Given the description of an element on the screen output the (x, y) to click on. 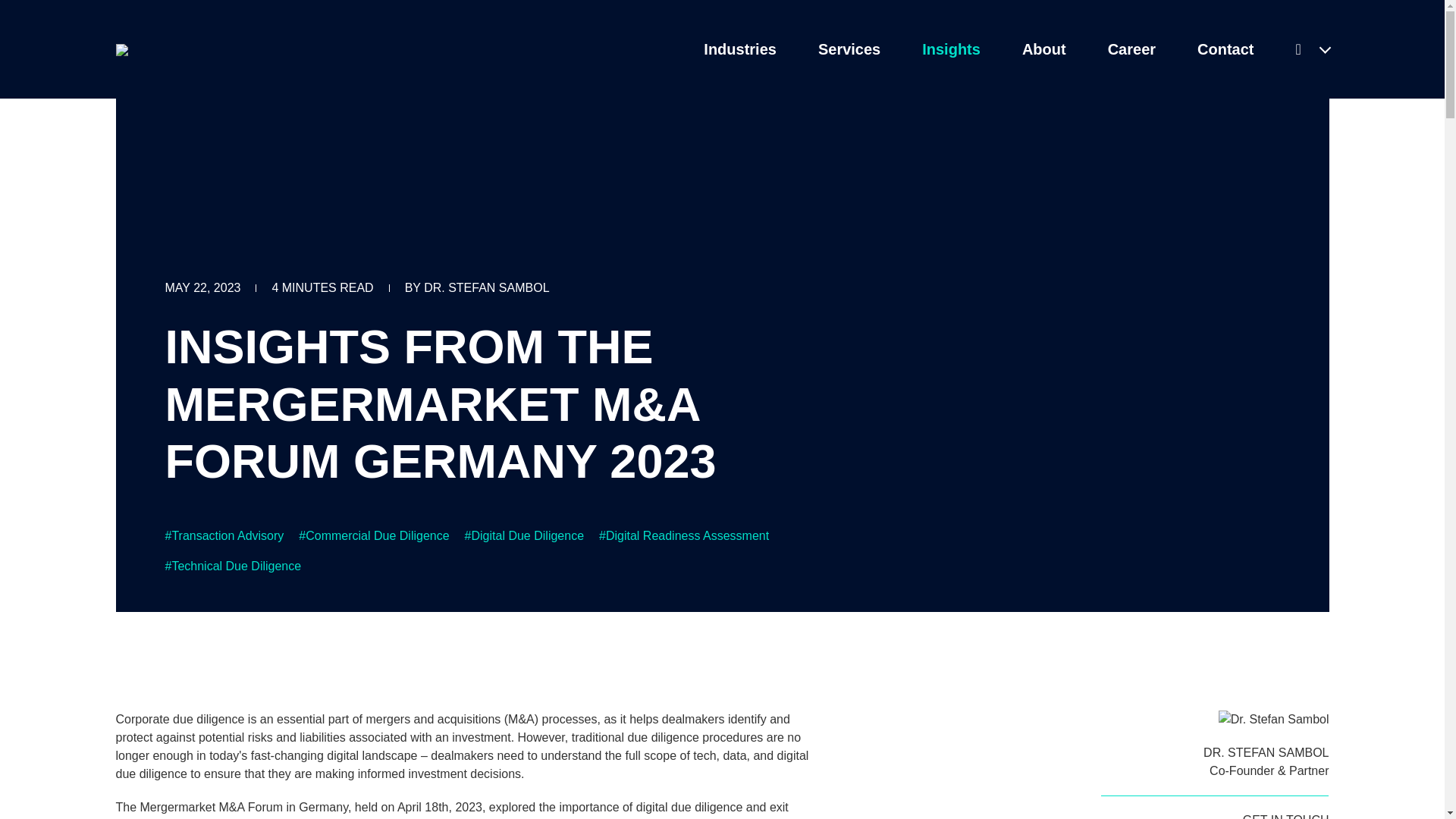
Industries (739, 48)
Contact (1224, 48)
Services (849, 48)
About (1043, 48)
Insights (950, 48)
Career (1132, 48)
